Given the description of an element on the screen output the (x, y) to click on. 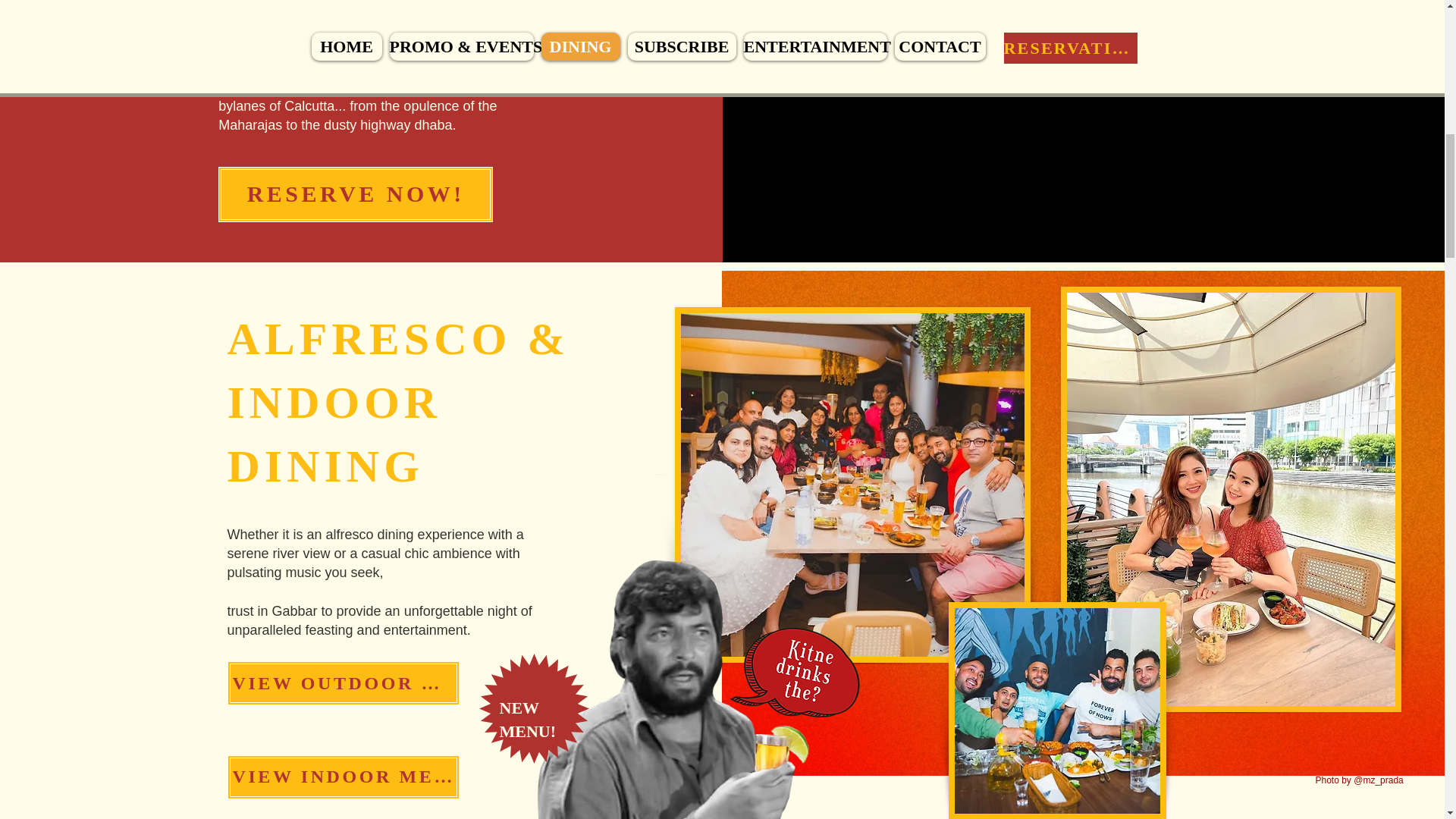
RESERVE NOW! (355, 194)
VIEW OUTDOOR MENU (343, 682)
VIEW INDOOR MENU (343, 777)
